Given the description of an element on the screen output the (x, y) to click on. 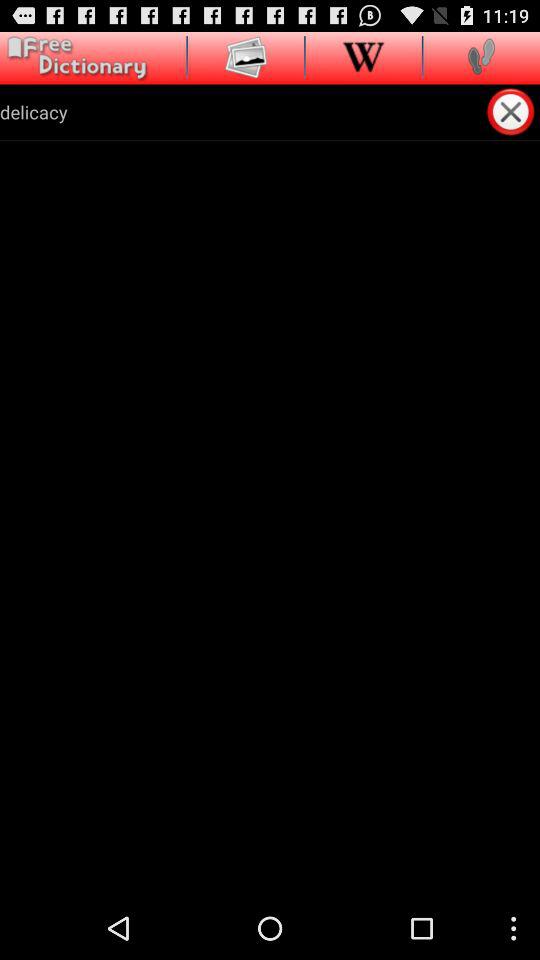
open app next to delicacy (512, 111)
